Given the description of an element on the screen output the (x, y) to click on. 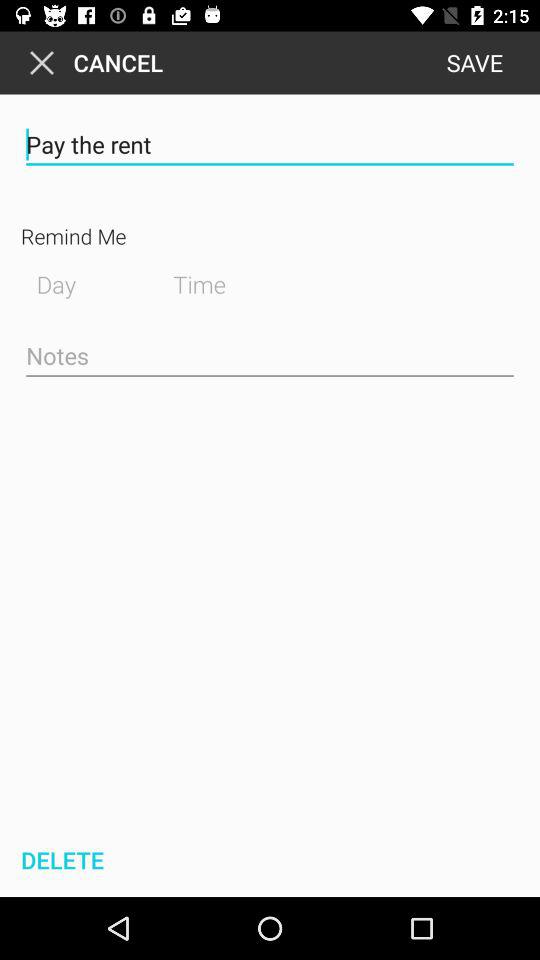
choose the item to the right of cancel icon (474, 62)
